Given the description of an element on the screen output the (x, y) to click on. 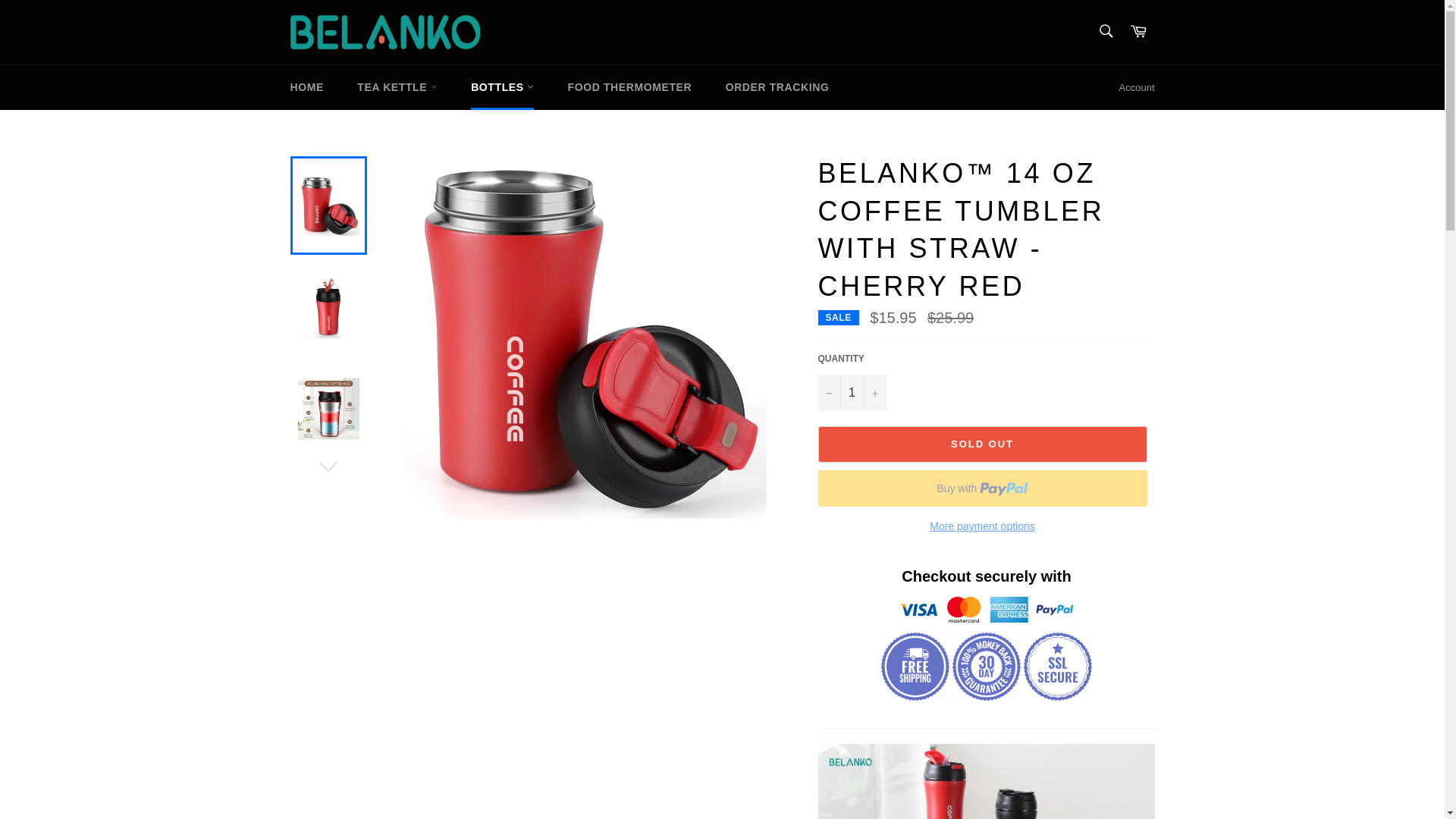
ORDER TRACKING (777, 87)
BOTTLES (501, 87)
Search (1104, 30)
Cart (1138, 32)
TEA KETTLE (396, 87)
HOME (306, 87)
FOOD THERMOMETER (630, 87)
1 (850, 392)
